Given the description of an element on the screen output the (x, y) to click on. 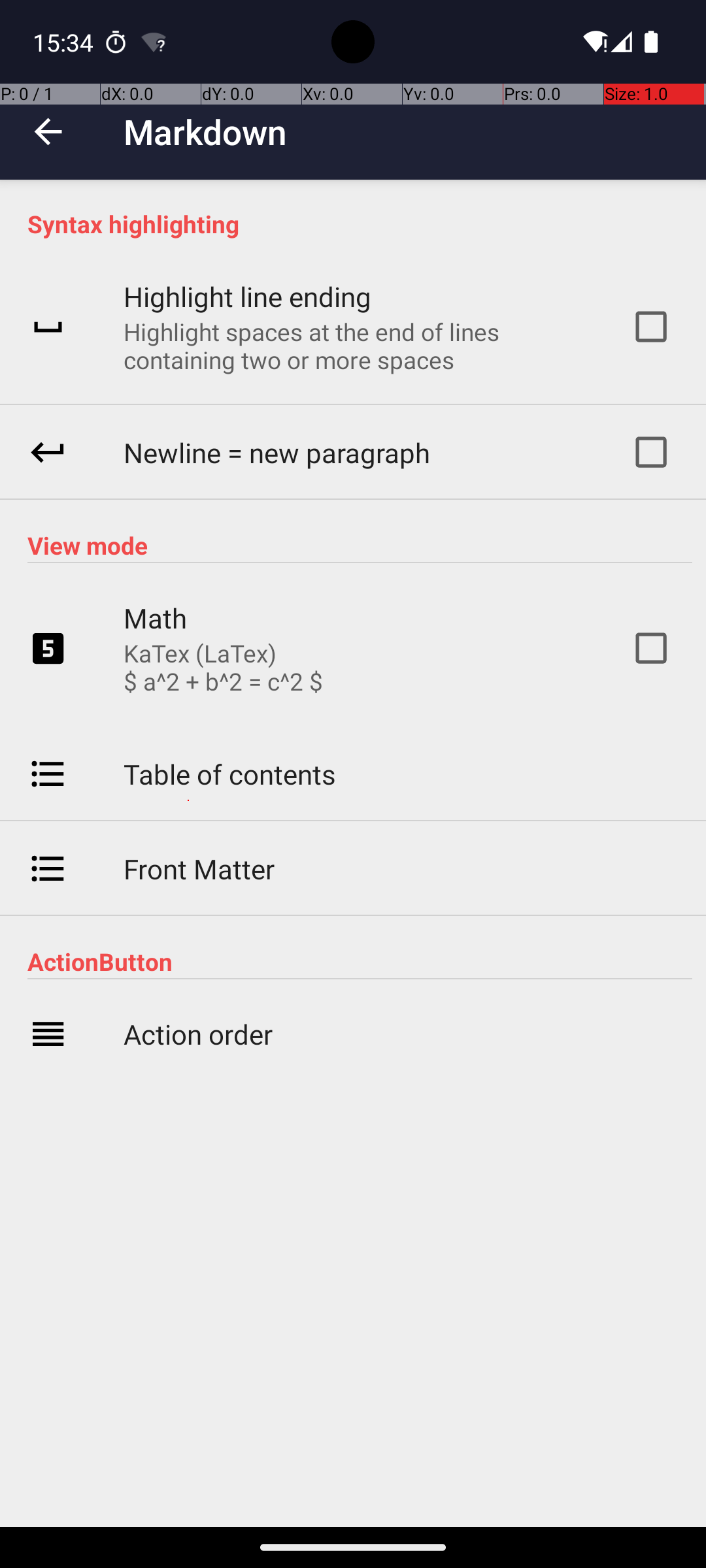
Syntax highlighting Element type: android.widget.TextView (359, 223)
ActionButton Element type: android.widget.TextView (359, 961)
Highlight line ending Element type: android.widget.TextView (247, 295)
Highlight spaces at the end of lines containing two or more spaces Element type: android.widget.TextView (359, 345)
Newline = new paragraph Element type: android.widget.TextView (276, 452)
Math Element type: android.widget.TextView (154, 617)
KaTex (LaTex)
$ a^2 + b^2 = c^2 $ Element type: android.widget.TextView (222, 666)
Front Matter Element type: android.widget.TextView (199, 868)
Action order Element type: android.widget.TextView (197, 1033)
